Given the description of an element on the screen output the (x, y) to click on. 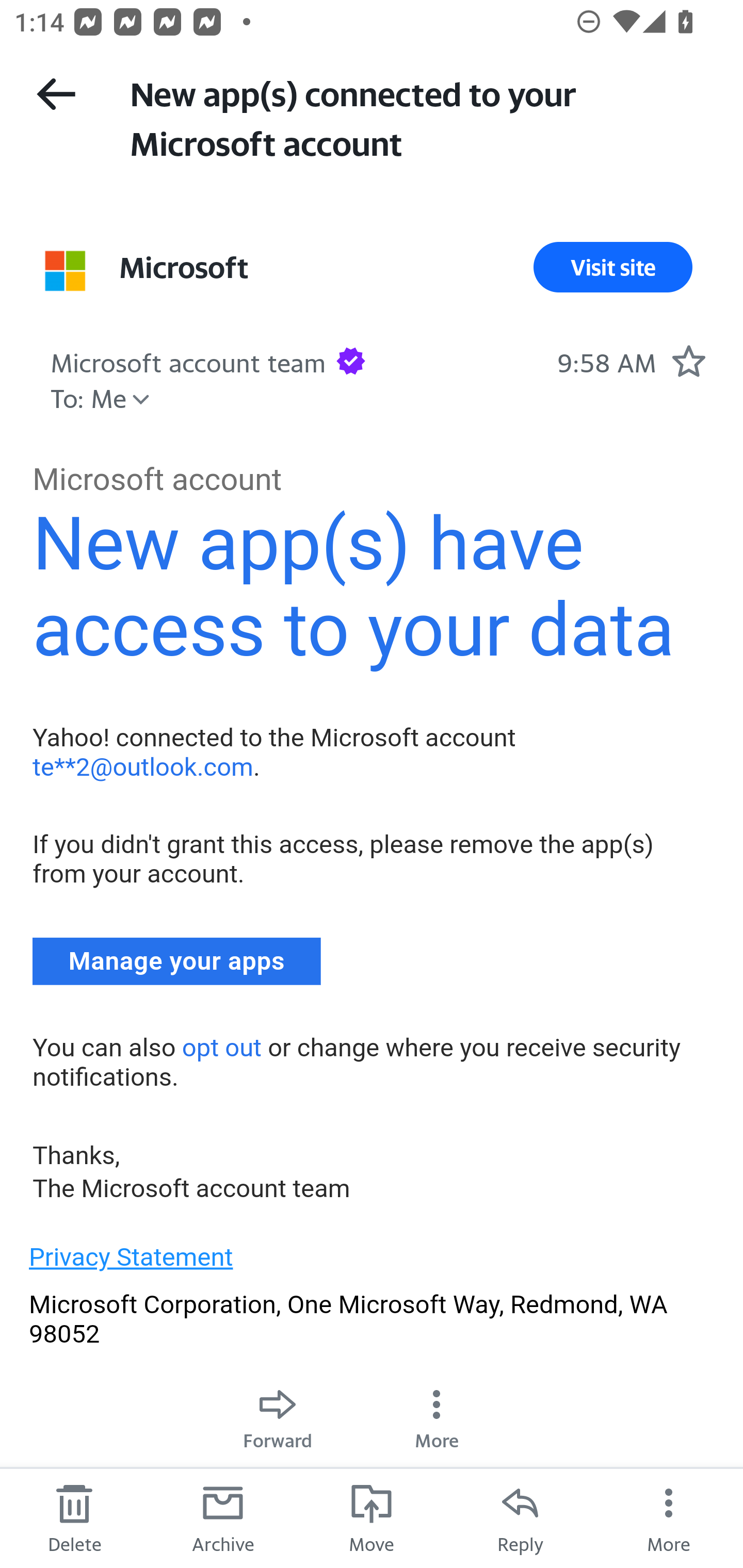
Back (55, 93)
View all messages from sender (64, 270)
Visit site Visit Site Link (612, 267)
Microsoft Sender Microsoft (183, 266)
Mark as starred. (688, 361)
te**2@outlook.com (142, 766)
Manage your apps (177, 960)
opt out (220, 1047)
Privacy Statement (131, 1257)
Forward (277, 1414)
More (436, 1414)
Delete (74, 1517)
Archive (222, 1517)
Move (371, 1517)
Reply (519, 1517)
More (668, 1517)
